Given the description of an element on the screen output the (x, y) to click on. 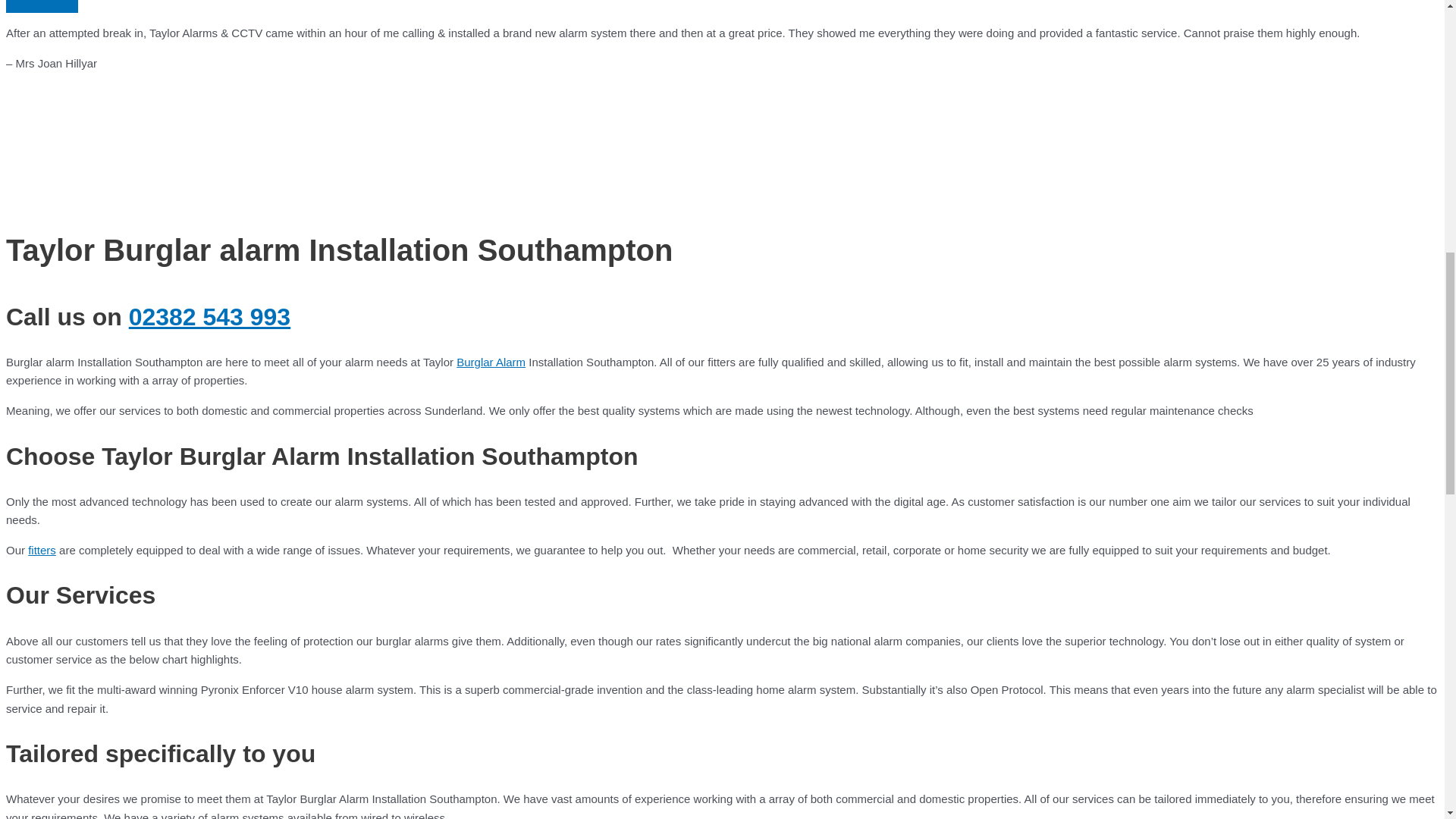
02382 543 993 (209, 316)
fitters (41, 549)
Send (41, 6)
Burglar Alarm (491, 361)
